Given the description of an element on the screen output the (x, y) to click on. 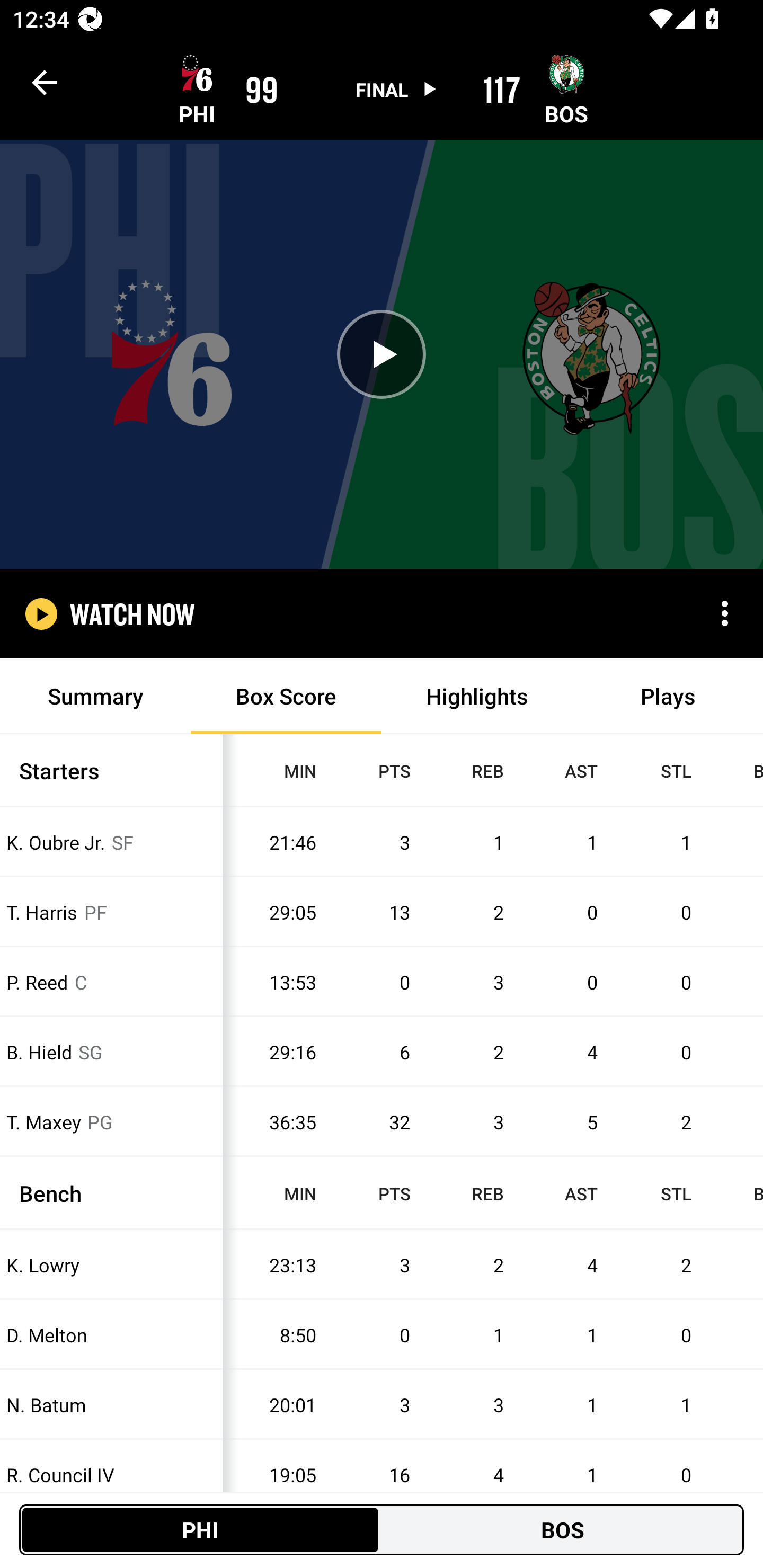
Navigate up (44, 82)
More options (724, 613)
WATCH NOW (132, 613)
Summary (95, 695)
Highlights (476, 695)
Plays (667, 695)
K. Oubre Jr. SF (111, 841)
T. Harris PF (111, 911)
P. Reed C (111, 982)
B. Hield SG (111, 1051)
T. Maxey PG (111, 1121)
K. Lowry (111, 1264)
D. Melton (111, 1334)
N. Batum (111, 1404)
R. Council IV (111, 1474)
BOS (562, 1529)
